Given the description of an element on the screen output the (x, y) to click on. 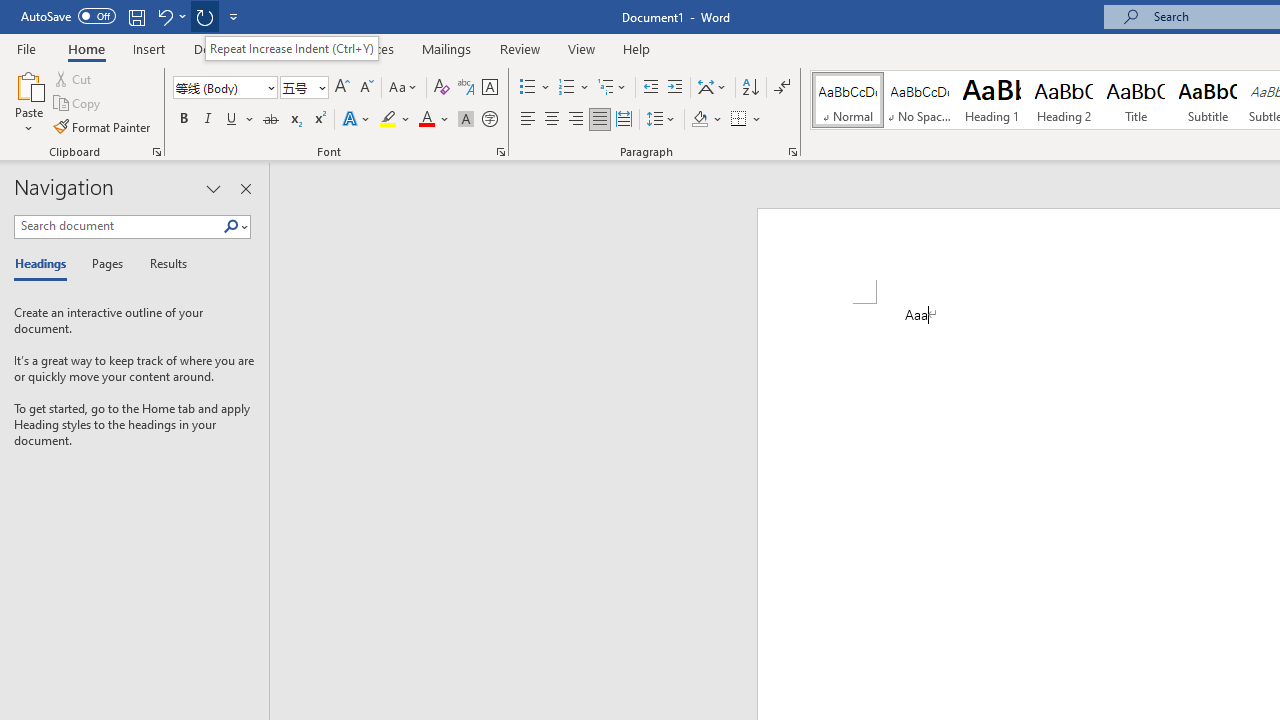
Heading 2 (1063, 100)
Repeat Increase Indent (Ctrl+Y) (291, 48)
